Given the description of an element on the screen output the (x, y) to click on. 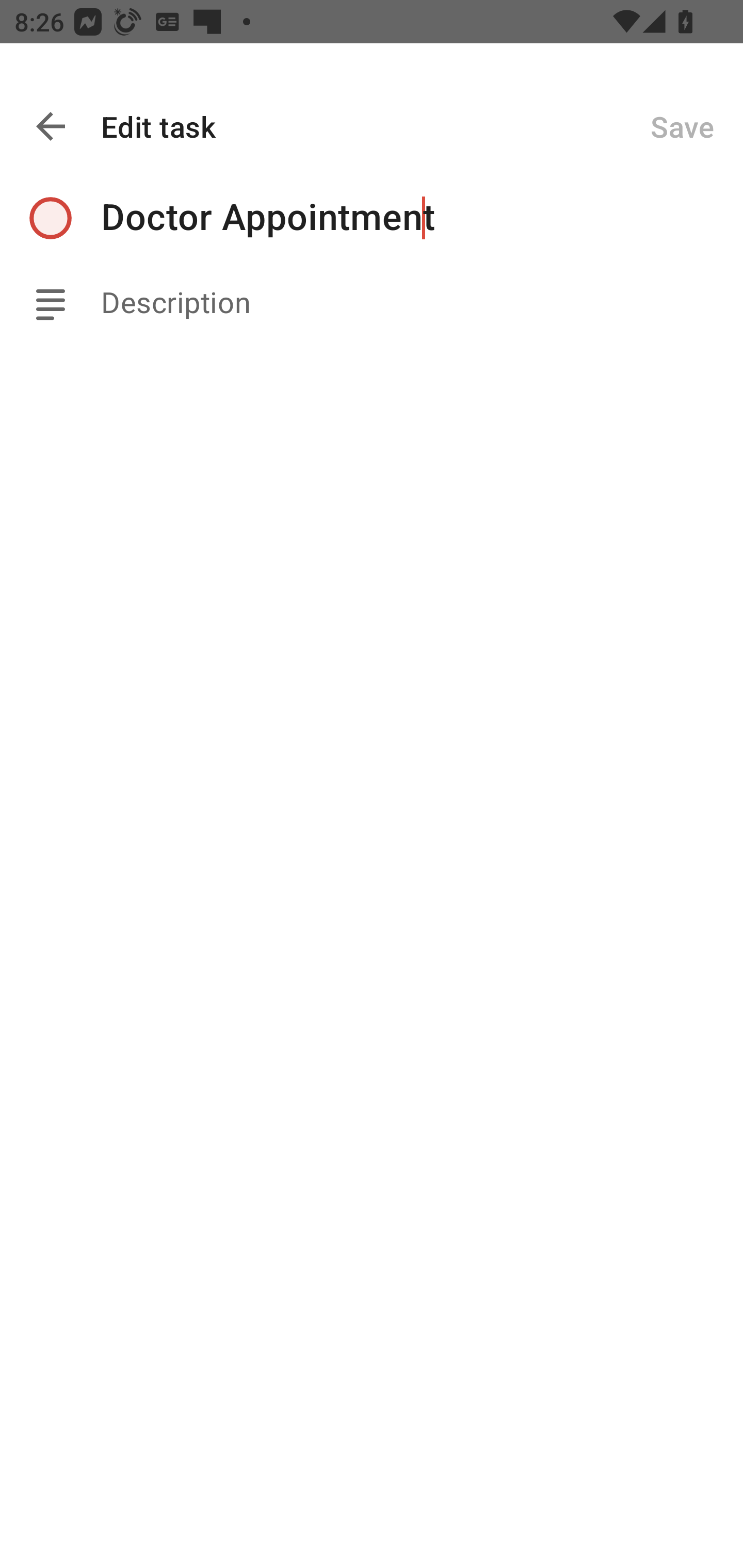
Save (681, 126)
Doctor Appointment (422, 217)
Description (422, 303)
